Given the description of an element on the screen output the (x, y) to click on. 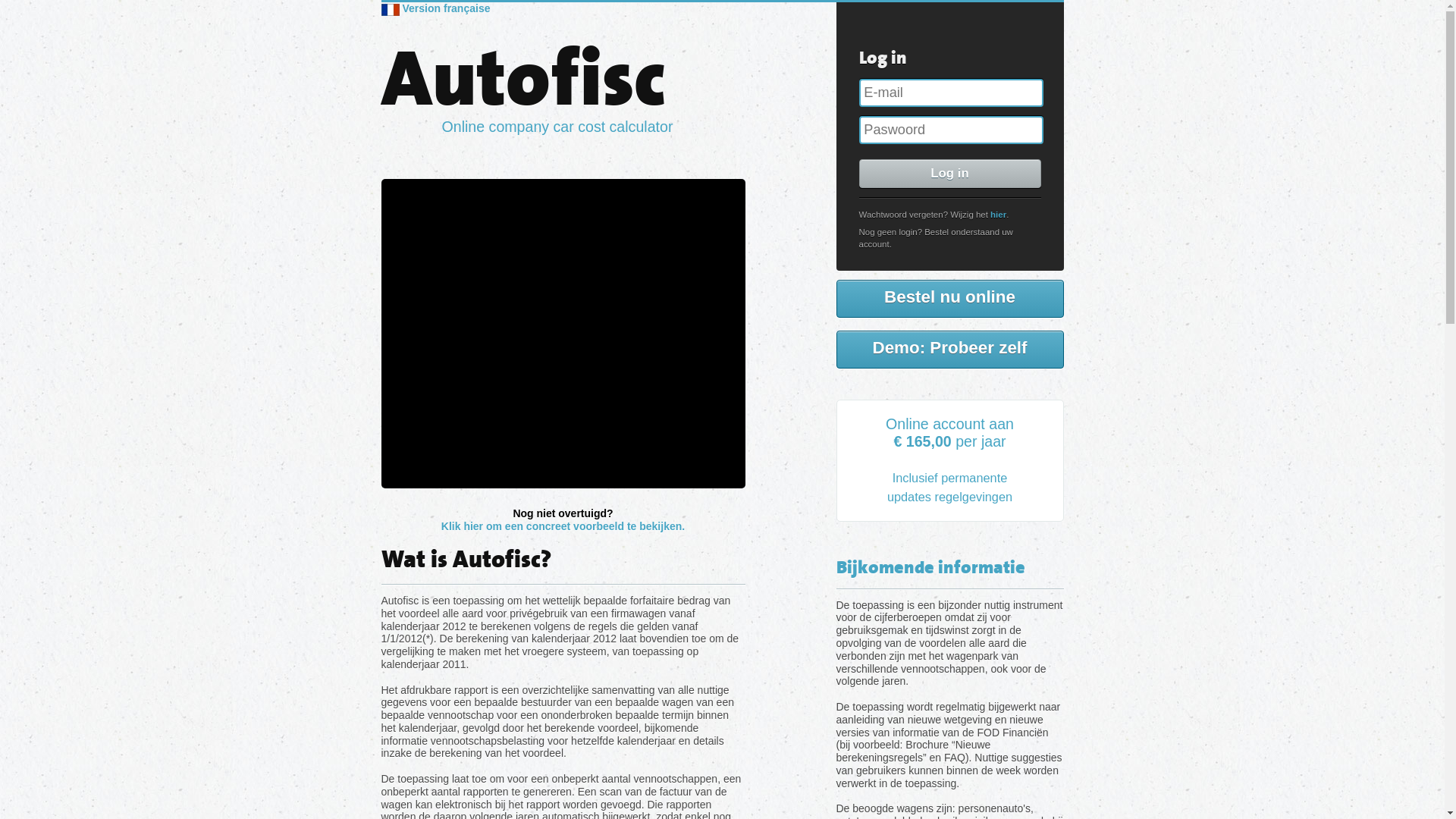
Log in Element type: text (949, 173)
Bestel nu online Element type: text (949, 298)
Demo: Probeer zelf Element type: text (949, 349)
hier Element type: text (998, 214)
